Given the description of an element on the screen output the (x, y) to click on. 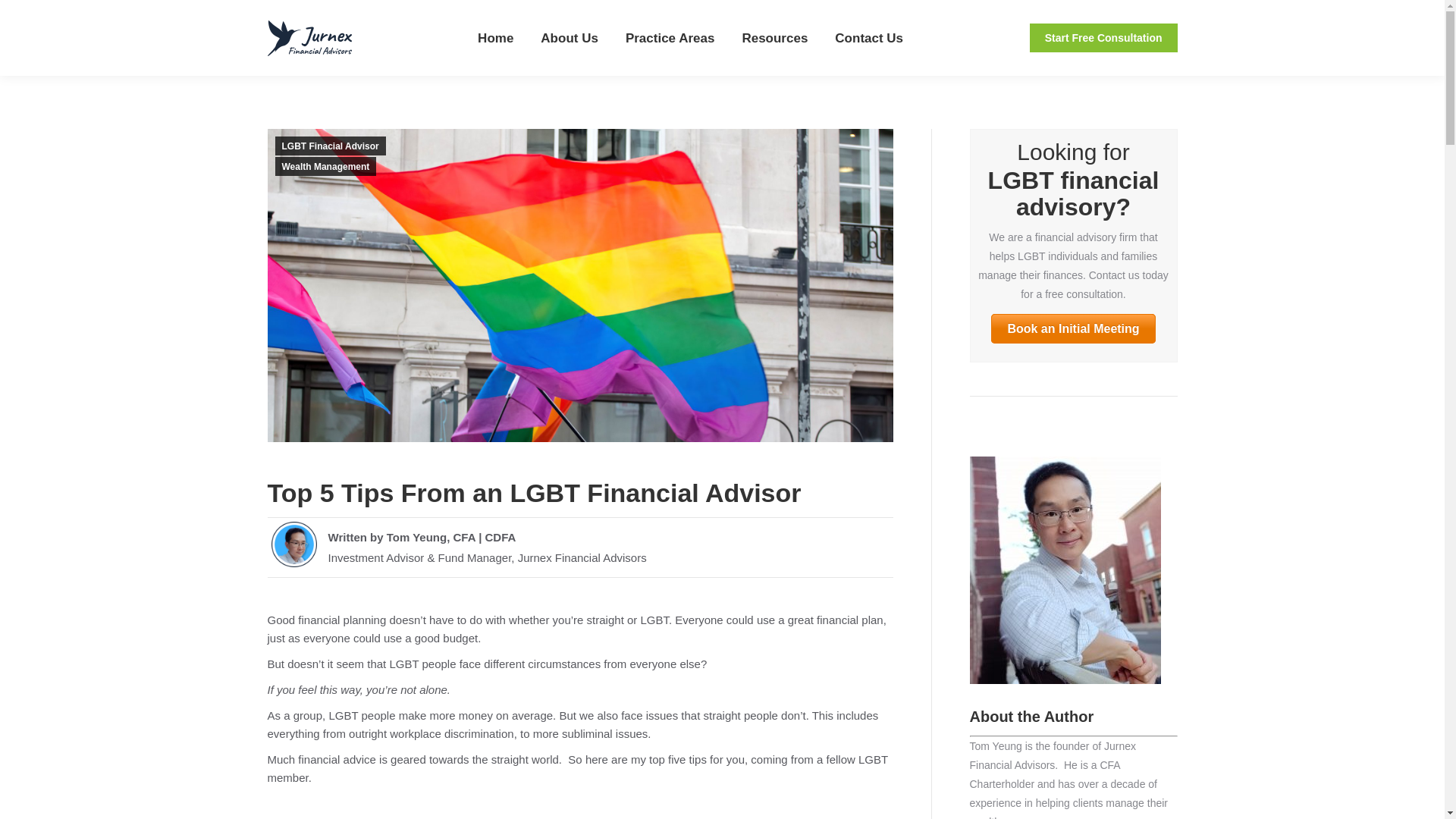
LGBT Finacial Advisor (330, 145)
Start Free Consultation (1103, 37)
Resources (774, 37)
Practice Areas (670, 37)
Contact Us (868, 37)
About Us (569, 37)
